Given the description of an element on the screen output the (x, y) to click on. 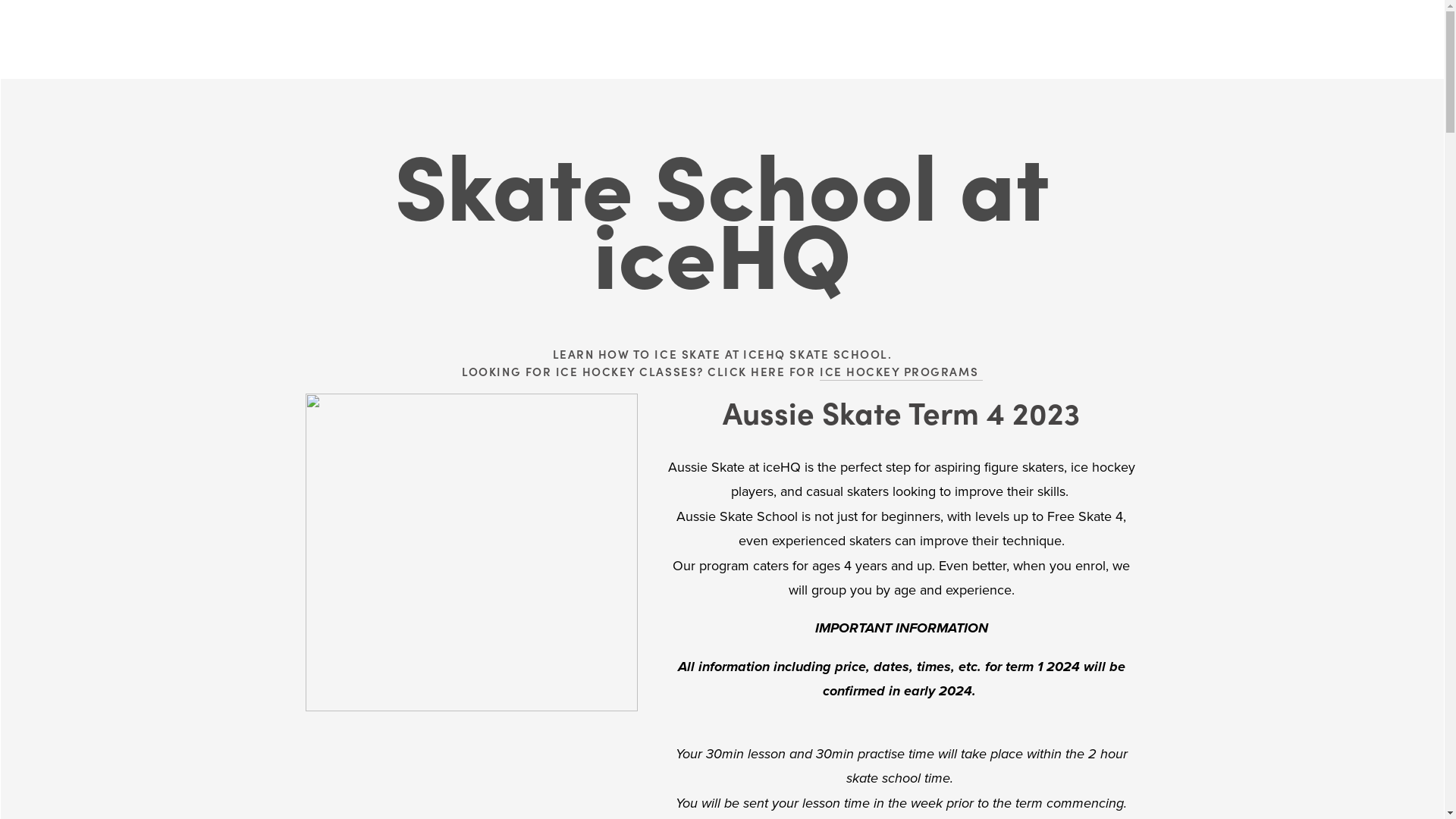
ICE HOCKEY PROGRAMS  Element type: text (900, 371)
